Given the description of an element on the screen output the (x, y) to click on. 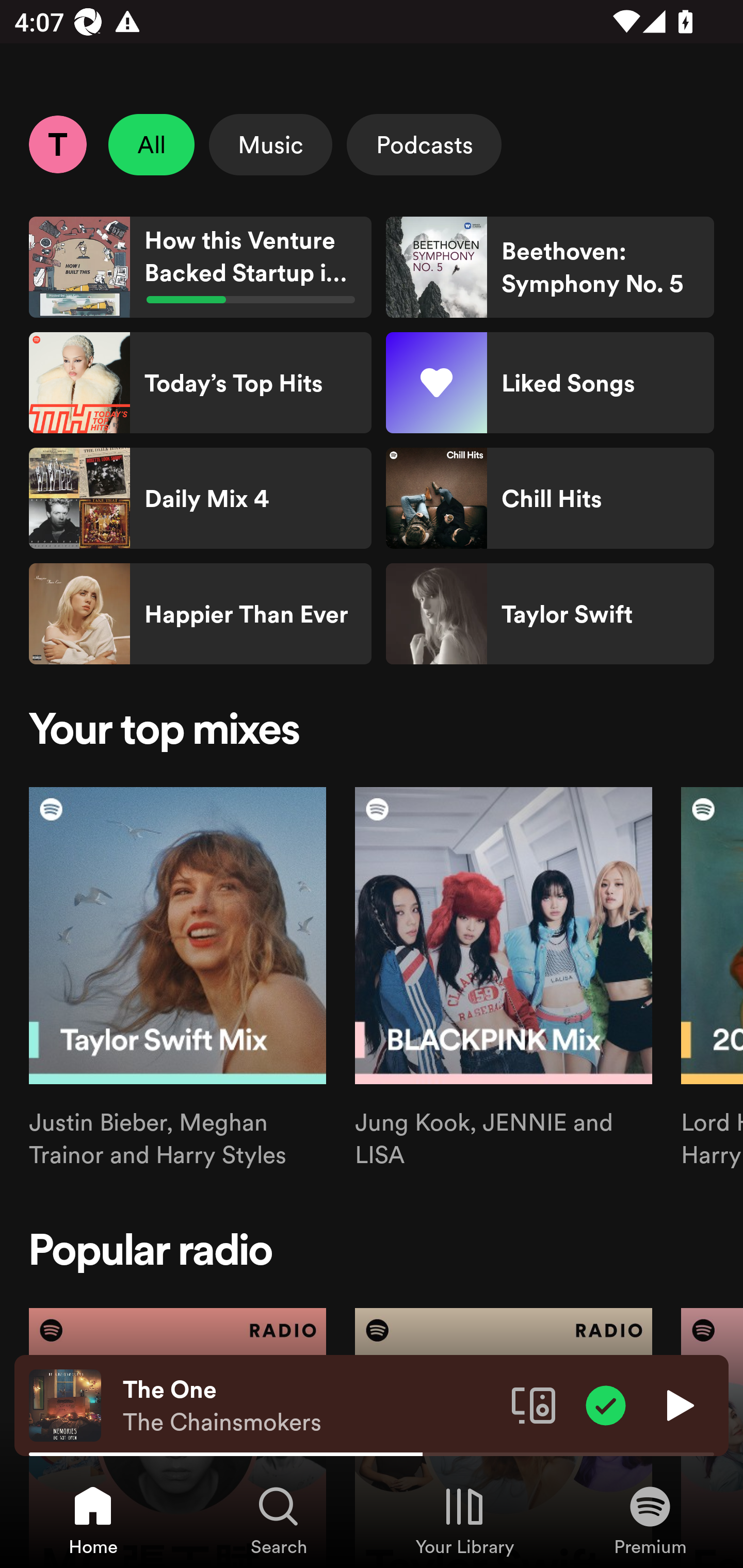
Profile (57, 144)
All Unselect All (151, 144)
Music Select Music (270, 144)
Podcasts Select Podcasts (423, 144)
Today’s Top Hits Shortcut Today’s Top Hits (199, 382)
Liked Songs Shortcut Liked Songs (549, 382)
Daily Mix 4 Shortcut Daily Mix 4 (199, 498)
Chill Hits Shortcut Chill Hits (549, 498)
Happier Than Ever Shortcut Happier Than Ever (199, 613)
Taylor Swift Shortcut Taylor Swift (549, 613)
The One The Chainsmokers (309, 1405)
The cover art of the currently playing track (64, 1404)
Connect to a device. Opens the devices menu (533, 1404)
Item added (605, 1404)
Play (677, 1404)
Home, Tab 1 of 4 Home Home (92, 1519)
Search, Tab 2 of 4 Search Search (278, 1519)
Your Library, Tab 3 of 4 Your Library Your Library (464, 1519)
Premium, Tab 4 of 4 Premium Premium (650, 1519)
